Given the description of an element on the screen output the (x, y) to click on. 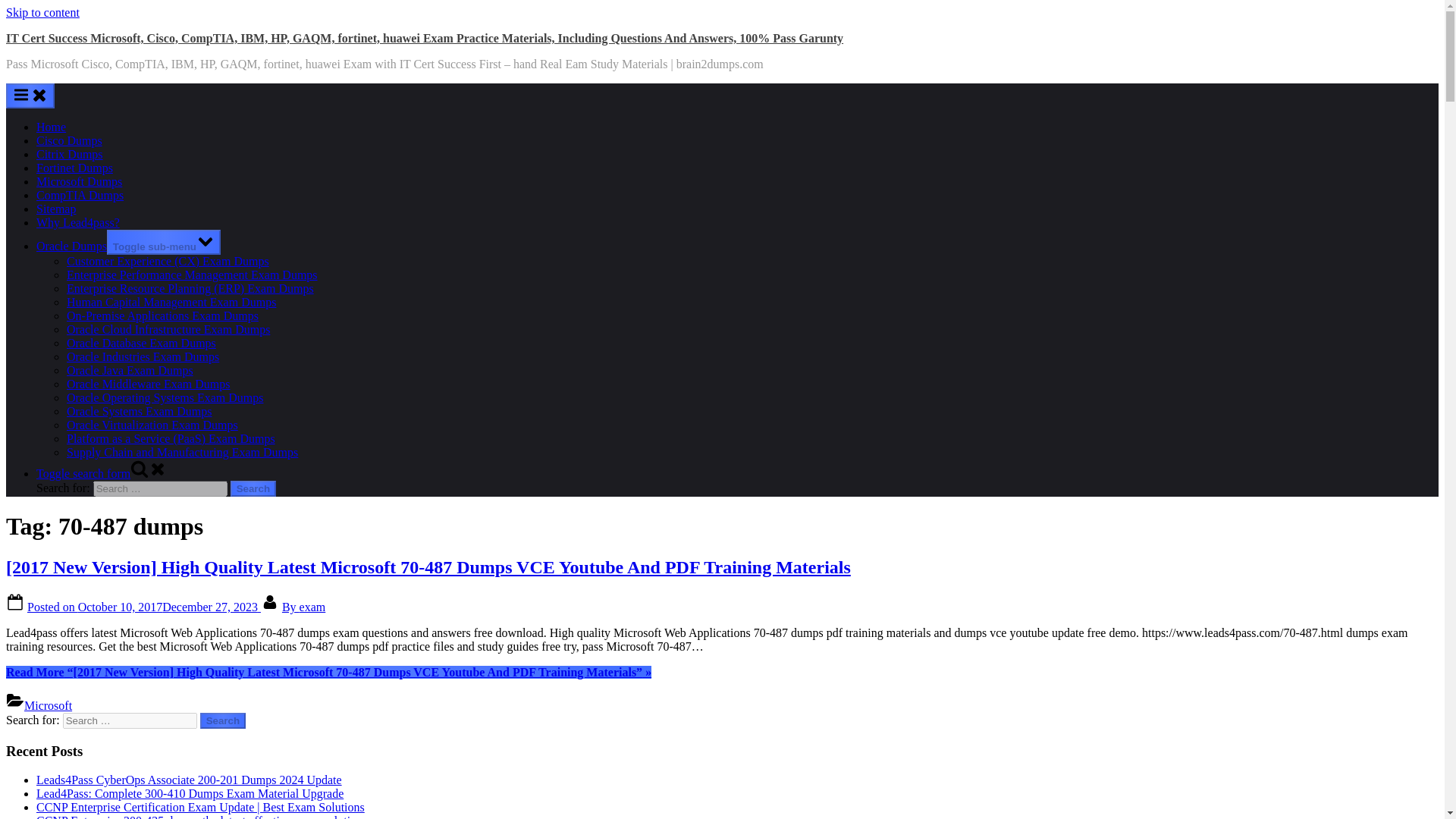
Oracle Operating Systems Exam Dumps (164, 397)
Enterprise Performance Management Exam Dumps (191, 274)
Oracle Systems Exam Dumps (139, 410)
Oracle Industries Exam Dumps (142, 356)
Why Lead4pass? (77, 222)
Search (223, 720)
Skip to content (42, 11)
Fortinet Dumps (74, 167)
Search (253, 488)
Search (253, 488)
Lead4Pass: Complete 300-410 Dumps Exam Material Upgrade (189, 793)
Cisco Dumps (68, 140)
Oracle Dumps (71, 245)
Search (223, 720)
